Given the description of an element on the screen output the (x, y) to click on. 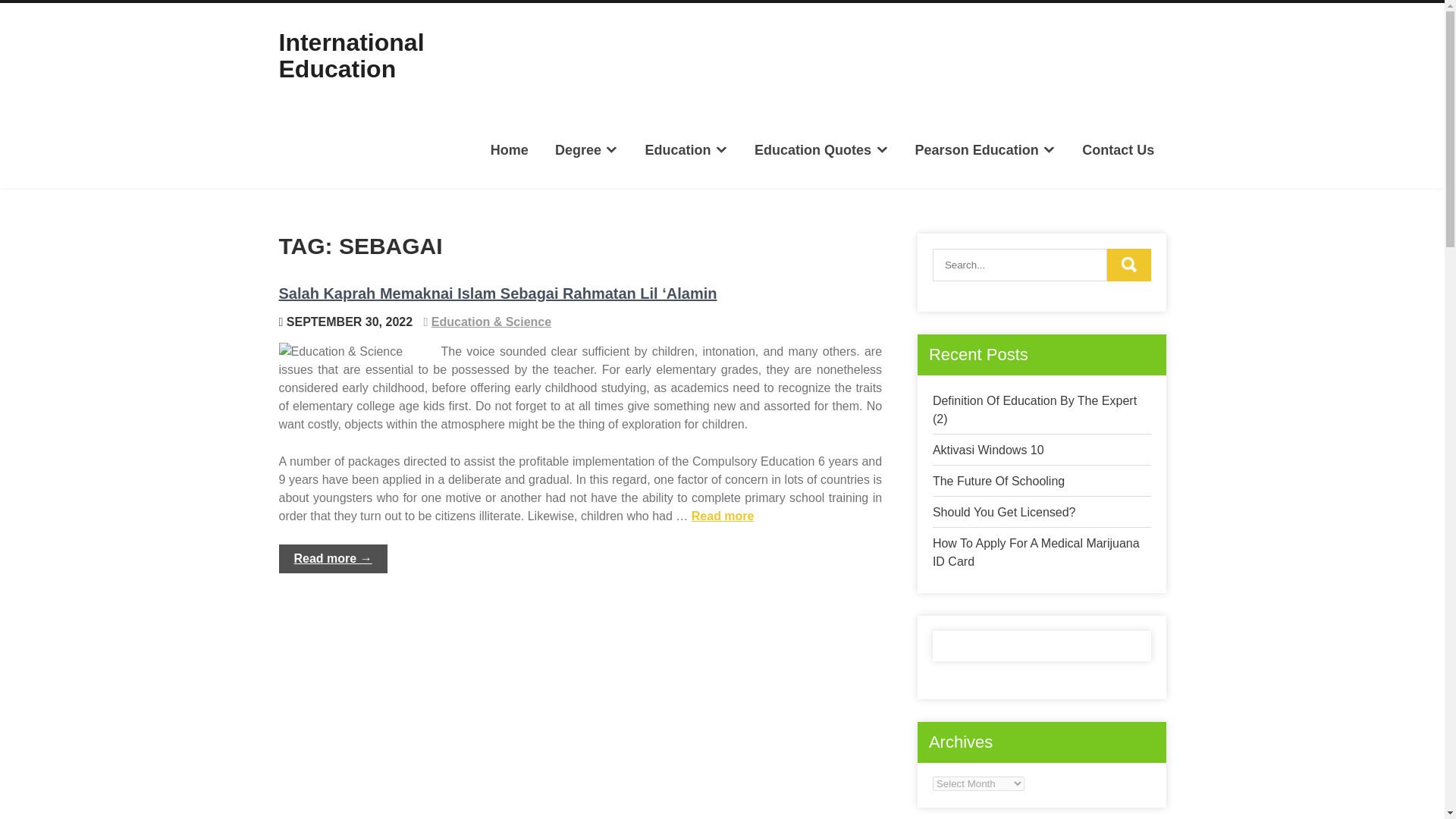
Degree (586, 149)
How To Apply For A Medical Marijuana ID Card (1036, 552)
Contact Us (1118, 149)
Read more (722, 515)
International Education (352, 55)
Pearson Education (984, 149)
Search (1128, 264)
Should You Get Licensed? (1004, 512)
Aktivasi Windows 10 (988, 449)
Education Quotes (820, 149)
The Future Of Schooling (998, 481)
Education (686, 149)
Home (509, 149)
Search (1128, 264)
Search (1128, 264)
